Given the description of an element on the screen output the (x, y) to click on. 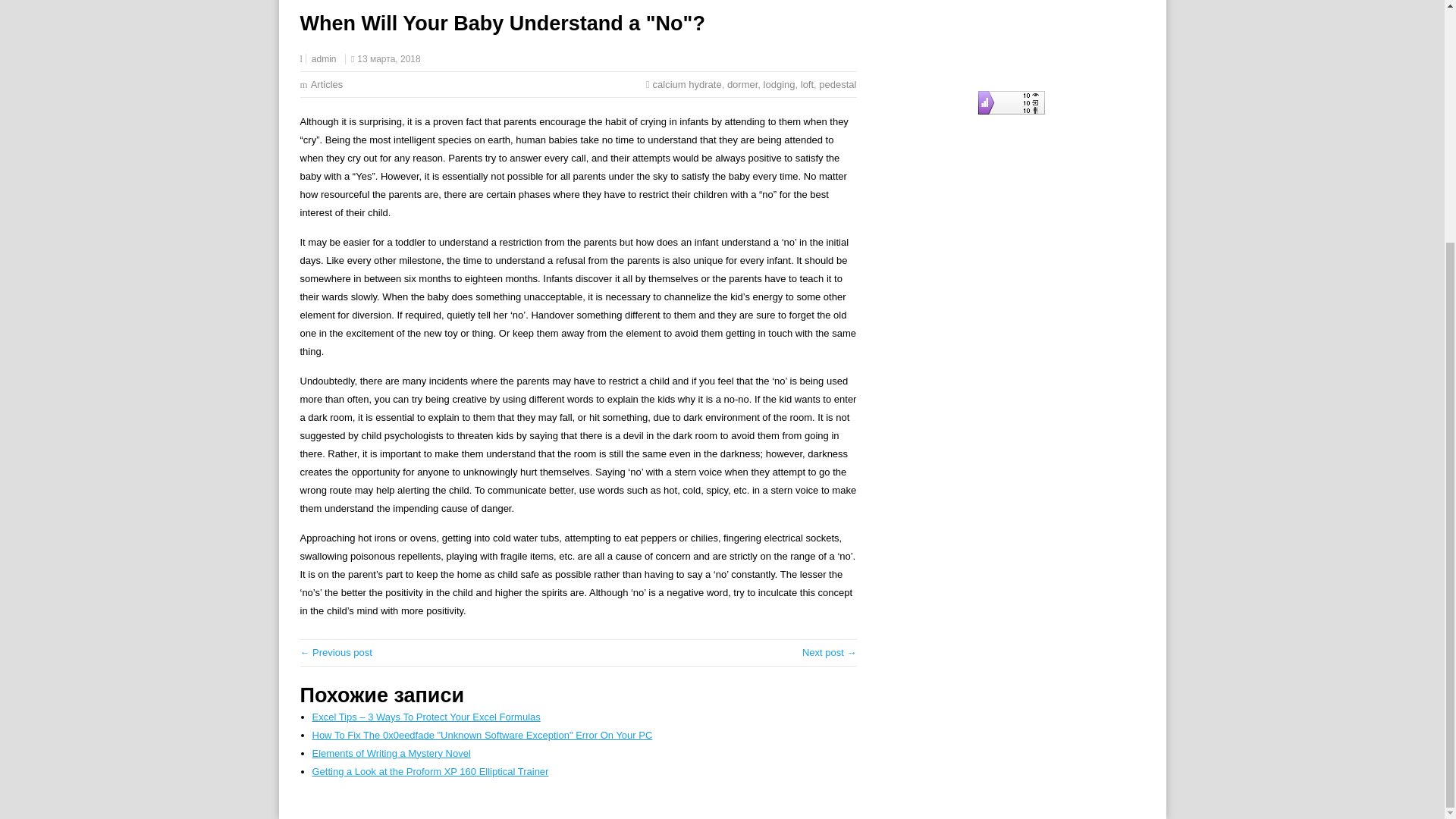
dormer (741, 84)
calcium hydrate (687, 84)
Getting a Look at the Proform XP 160 Elliptical Trainer (430, 771)
admin (323, 59)
pedestal (837, 84)
loft (806, 84)
Elements of Writing a Mystery Novel (391, 753)
Tips to Keep Your Baby Safe in Summer (335, 652)
lodging (778, 84)
